Given the description of an element on the screen output the (x, y) to click on. 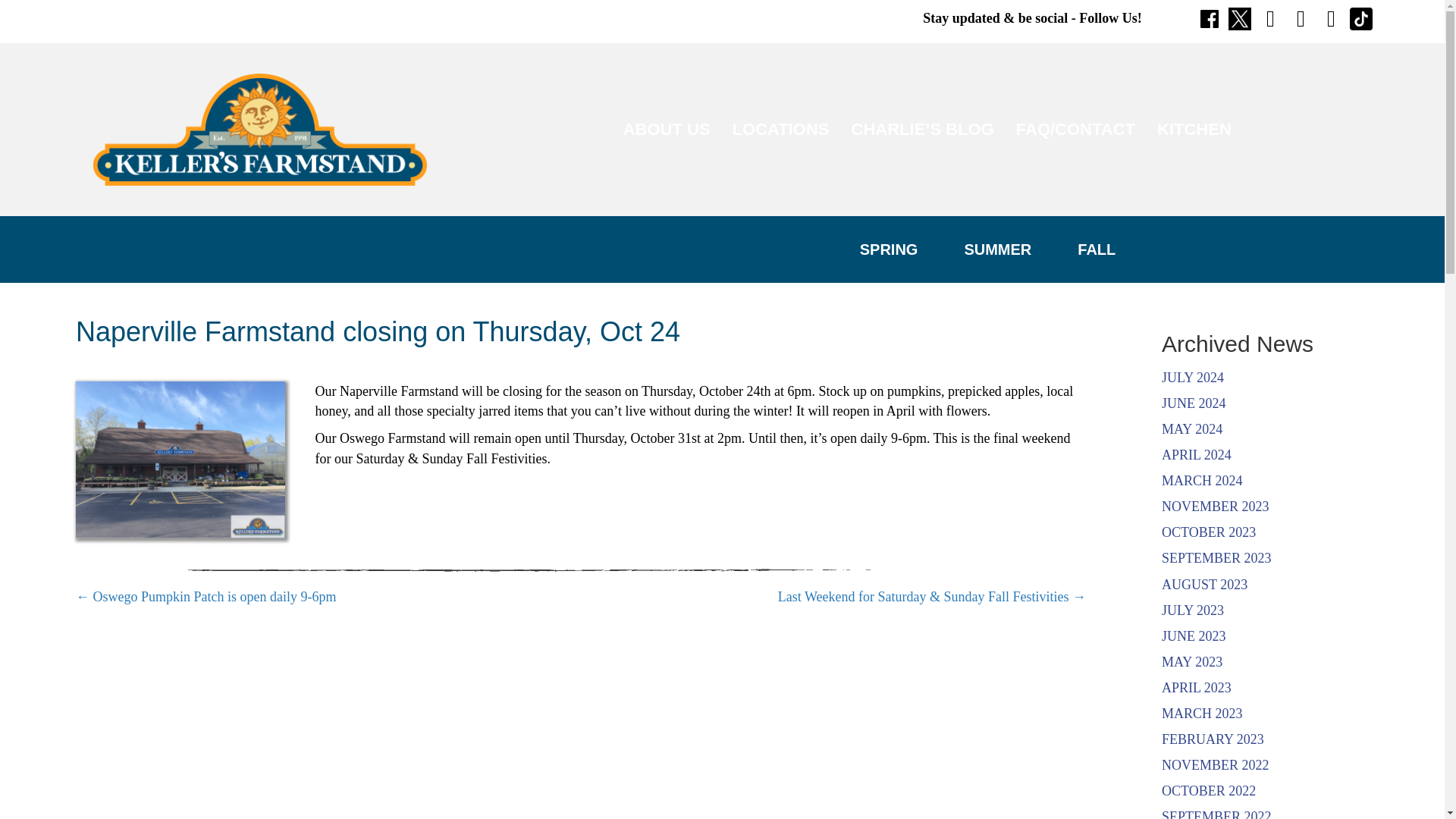
SUMMER (997, 248)
SPRING (888, 248)
X-black copy (1239, 18)
KITCHEN (1194, 129)
APRIL 2024 (1196, 454)
JULY 2024 (1192, 377)
NOVEMBER 2023 (1215, 506)
MARCH 2024 (1202, 480)
ABOUT US (666, 129)
